Given the description of an element on the screen output the (x, y) to click on. 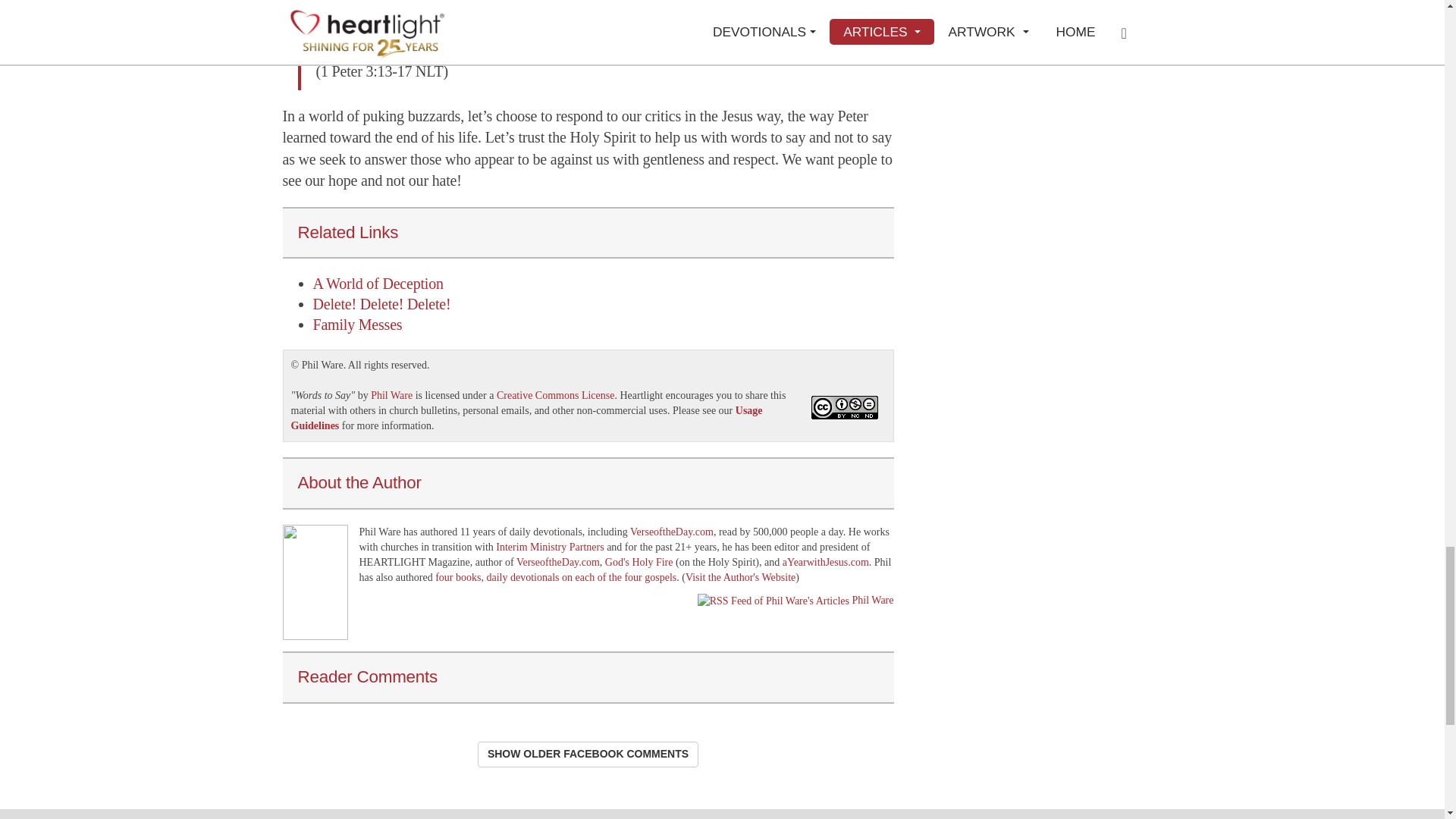
RSS Feed of Phil Ware's Articles (872, 600)
RSS Feed of Phil Ware's Articles (772, 601)
